Given the description of an element on the screen output the (x, y) to click on. 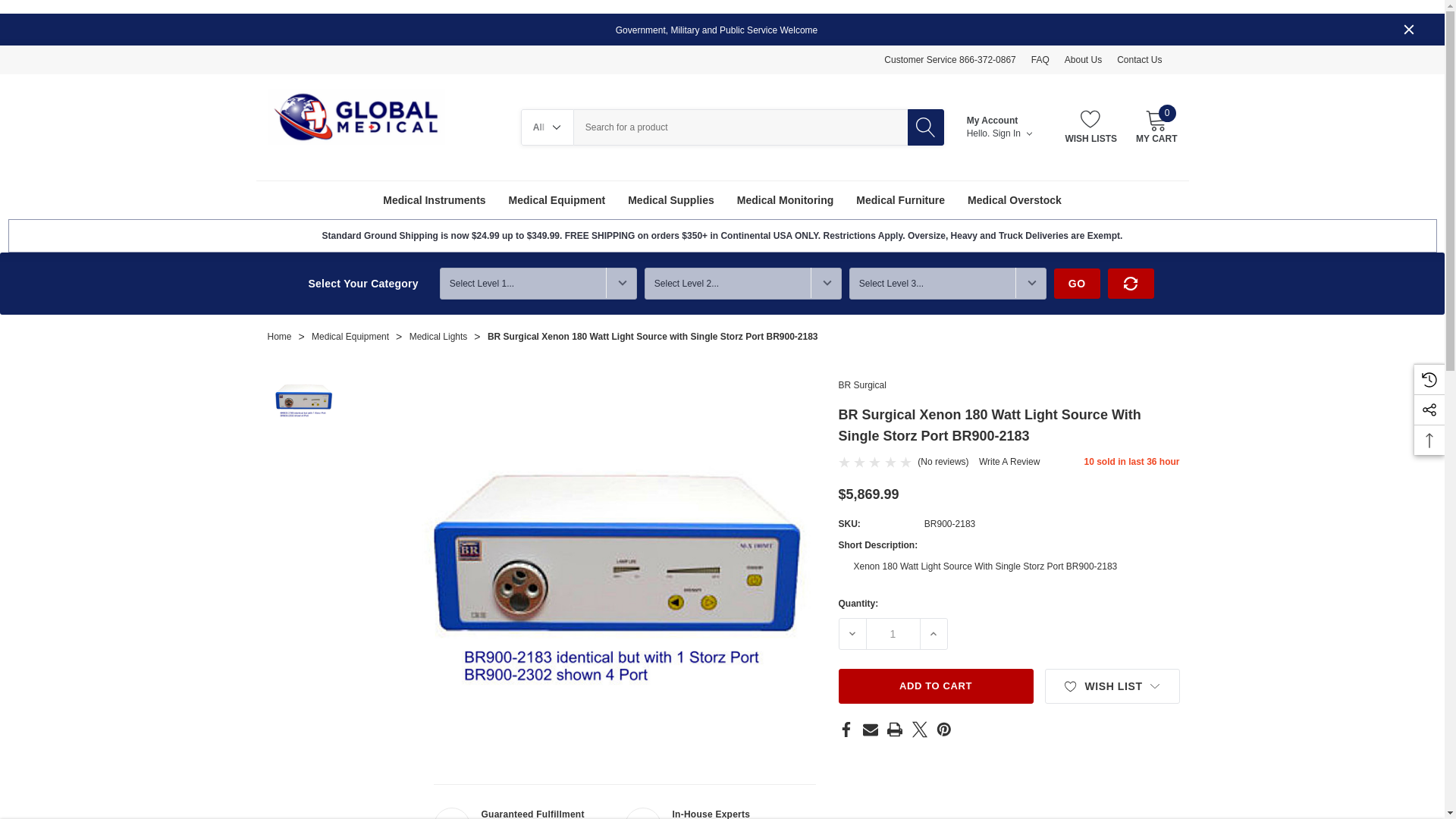
Customer Service 866-372-0867 (948, 59)
icon chevron down (1029, 133)
Go (1077, 283)
Contact Us (1138, 59)
YOUR CART YOUR CART (1155, 119)
icon chevron down (556, 127)
icon search (925, 127)
Close Close (1408, 29)
Government, Military and Public Service Welcome (722, 29)
Customer Service 866-372-0867 (948, 59)
